Given the description of an element on the screen output the (x, y) to click on. 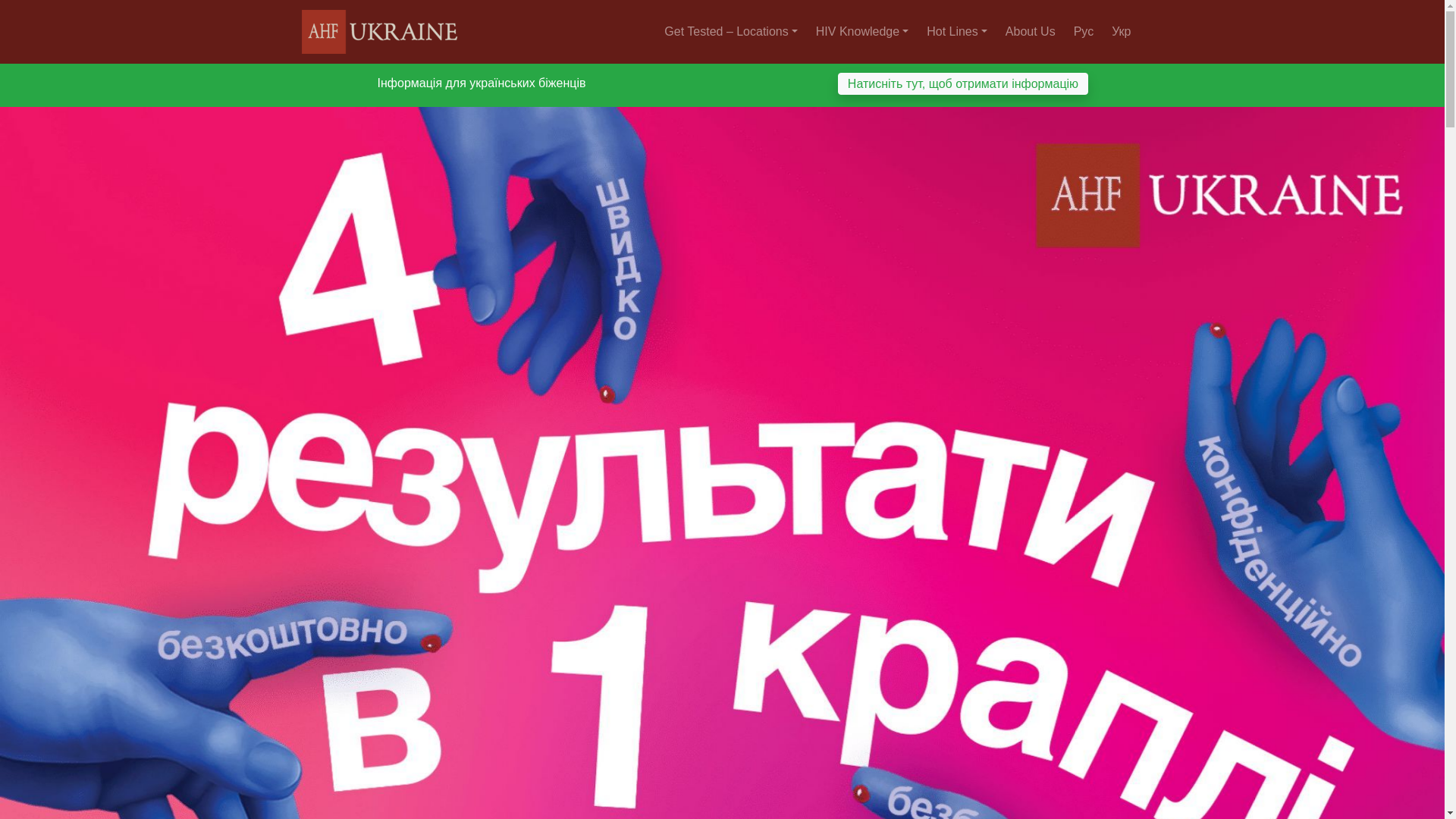
Hot Lines (959, 31)
Hot Lines (959, 31)
Get Tested - Locations (733, 31)
About Us (1032, 31)
HIV Knowledge (864, 31)
About Us (1032, 31)
HIV Knowledge (864, 31)
